Given the description of an element on the screen output the (x, y) to click on. 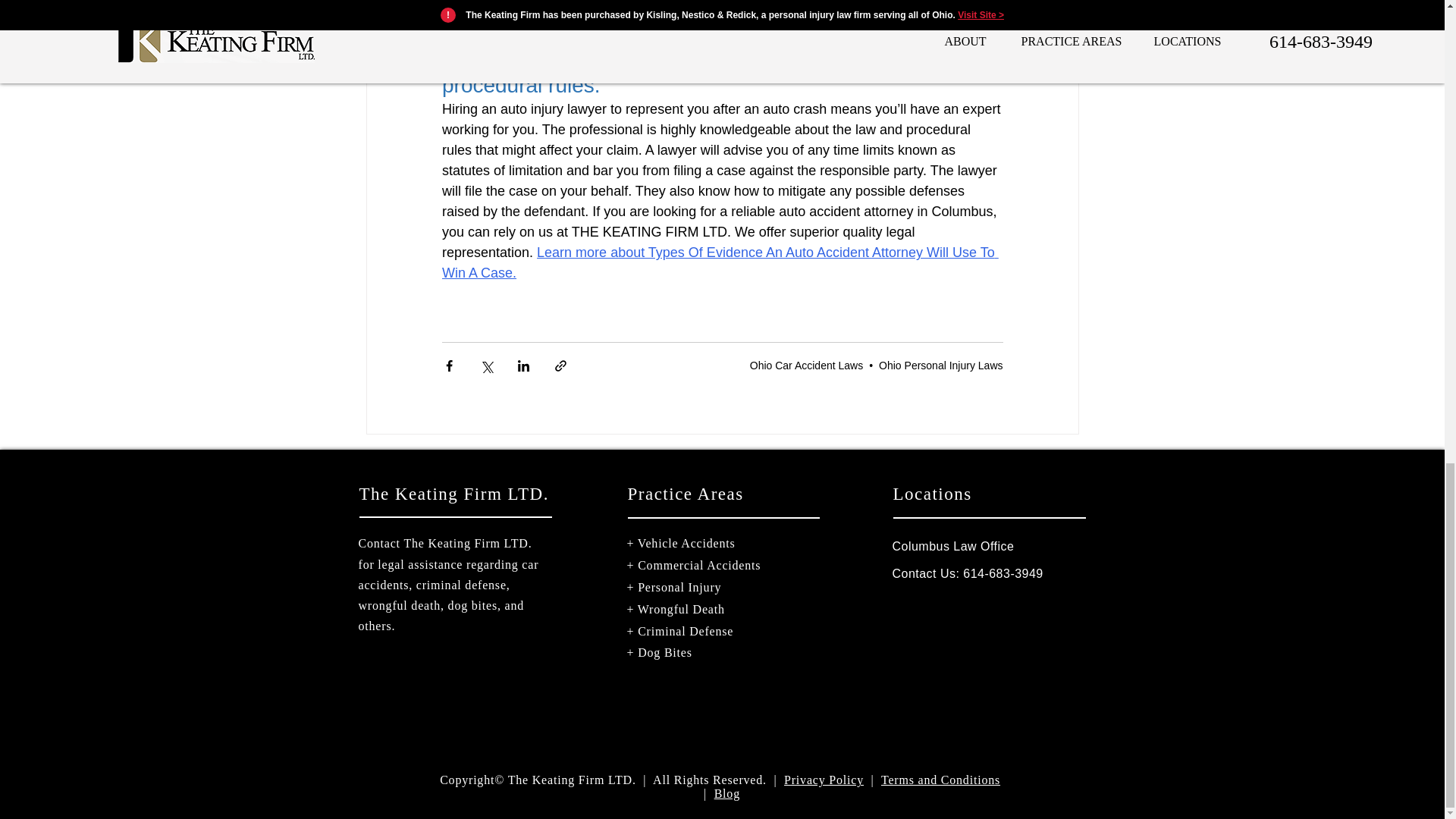
Ohio Personal Injury Laws (941, 365)
Vehicle Accidents (686, 543)
Personal Injury (678, 586)
Commercial Accidents (698, 564)
Ohio Car Accident Laws (806, 365)
